Given the description of an element on the screen output the (x, y) to click on. 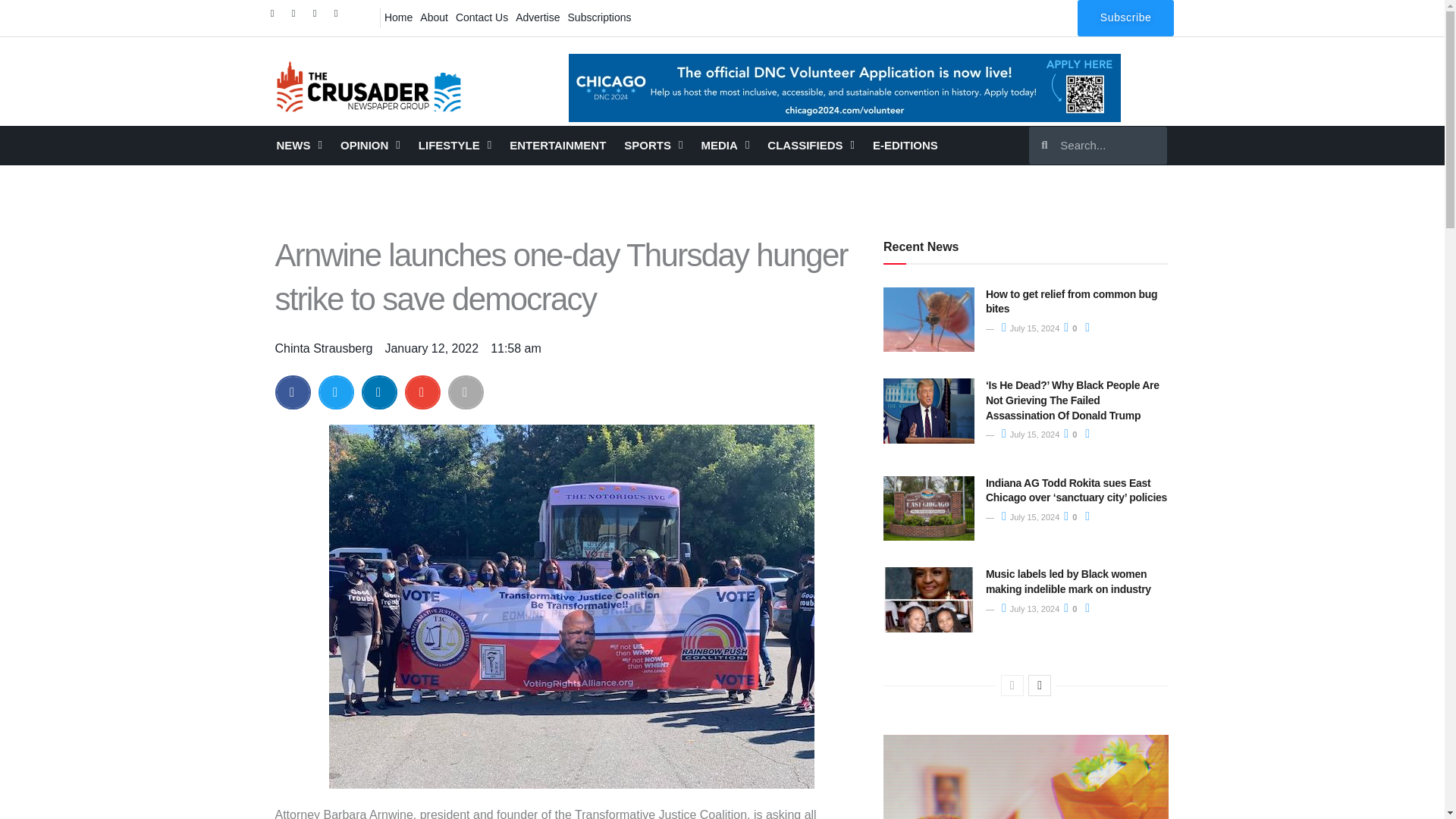
NEWS (298, 145)
Next (1039, 685)
Subscriptions (599, 17)
Instagram (318, 17)
Advertise (537, 17)
Contact Us (481, 17)
Previous (1012, 685)
Facebook-f (276, 17)
About (433, 17)
Subscribe (1125, 18)
Youtube (340, 17)
LIFESTYLE (454, 145)
Home (398, 17)
50th Anniversary-Lottery-RIGHT VERTICAL BANNER (1026, 776)
DNC-Leaderboard--June Campaign 2024 (845, 88)
